Given the description of an element on the screen output the (x, y) to click on. 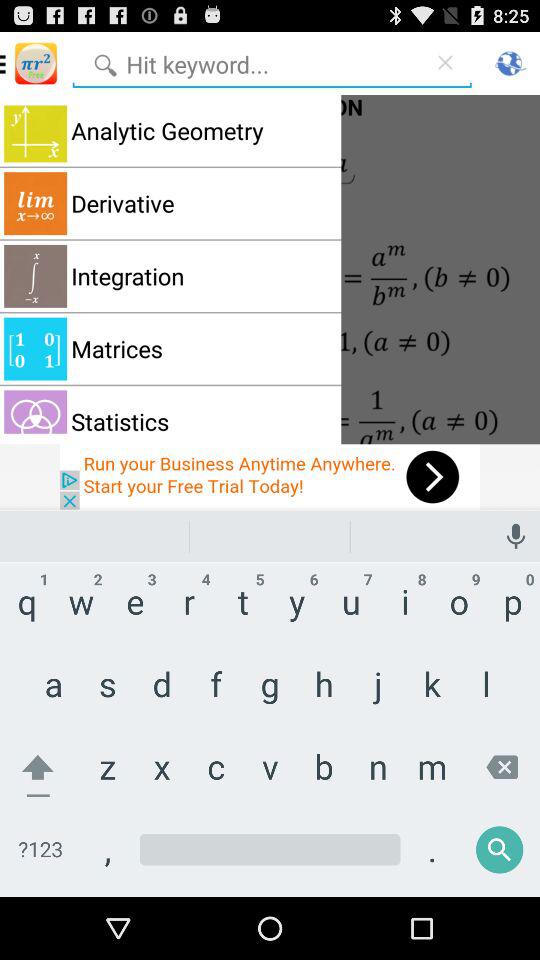
spacebar (270, 864)
